Given the description of an element on the screen output the (x, y) to click on. 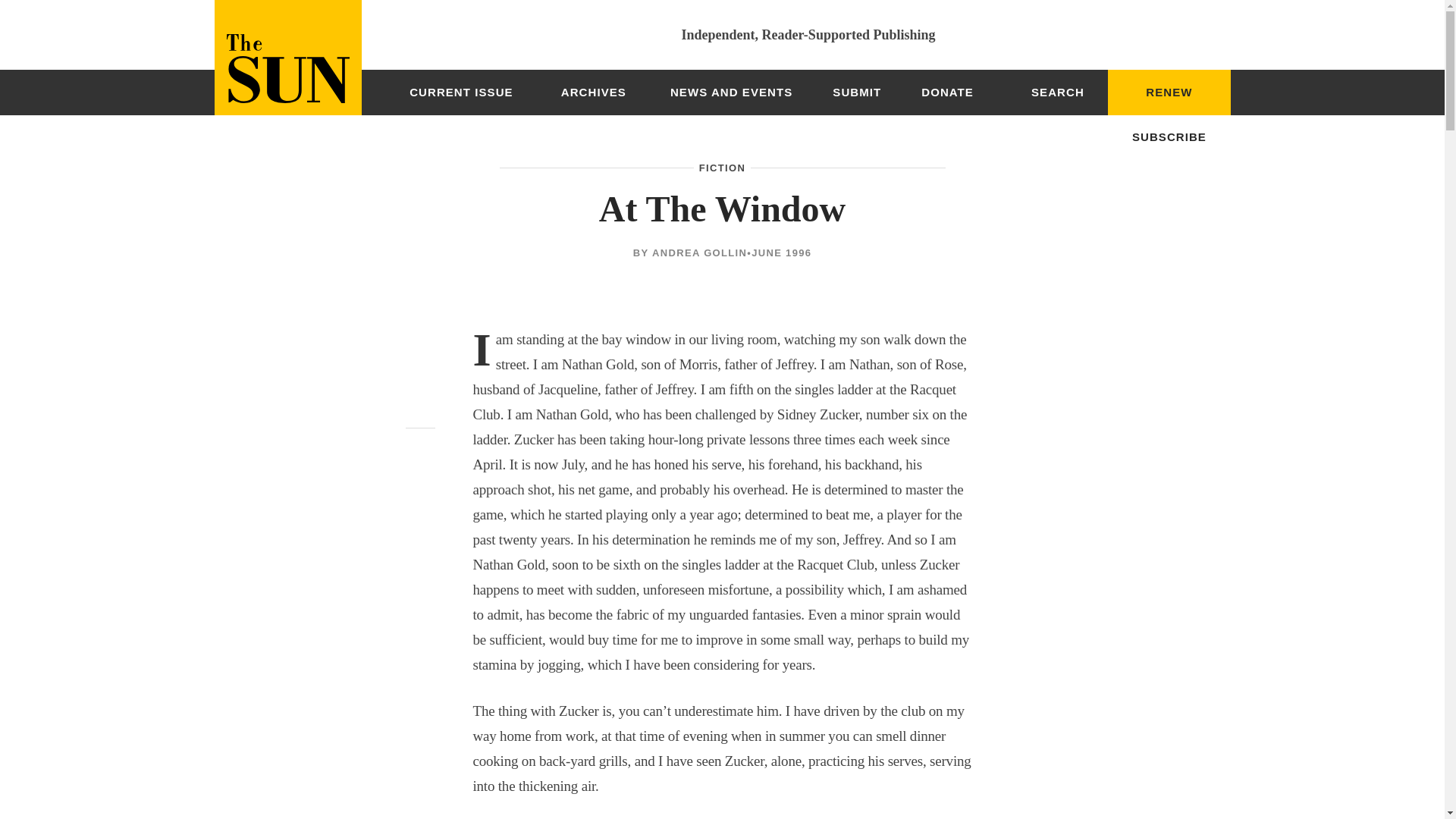
CURRENT ISSUE (461, 92)
NEWS AND EVENTS (730, 92)
ARCHIVES (593, 92)
